Given the description of an element on the screen output the (x, y) to click on. 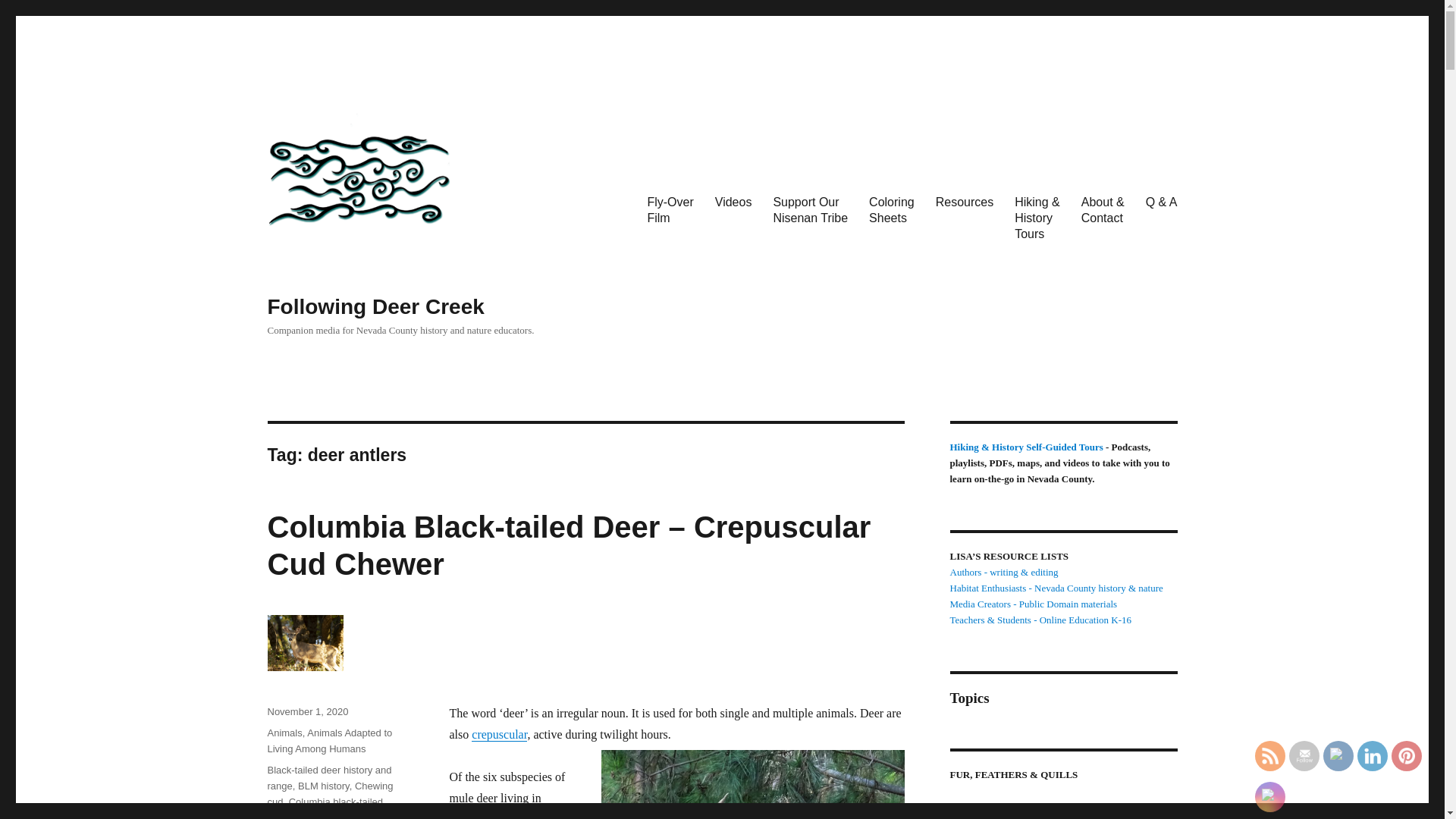
RSS (1270, 755)
crepuscular (891, 210)
Following Deer Creek (499, 734)
Videos (374, 306)
Facebook (733, 202)
LinkedIn (1338, 755)
Resources (810, 210)
Follow by Email (669, 210)
